Given the description of an element on the screen output the (x, y) to click on. 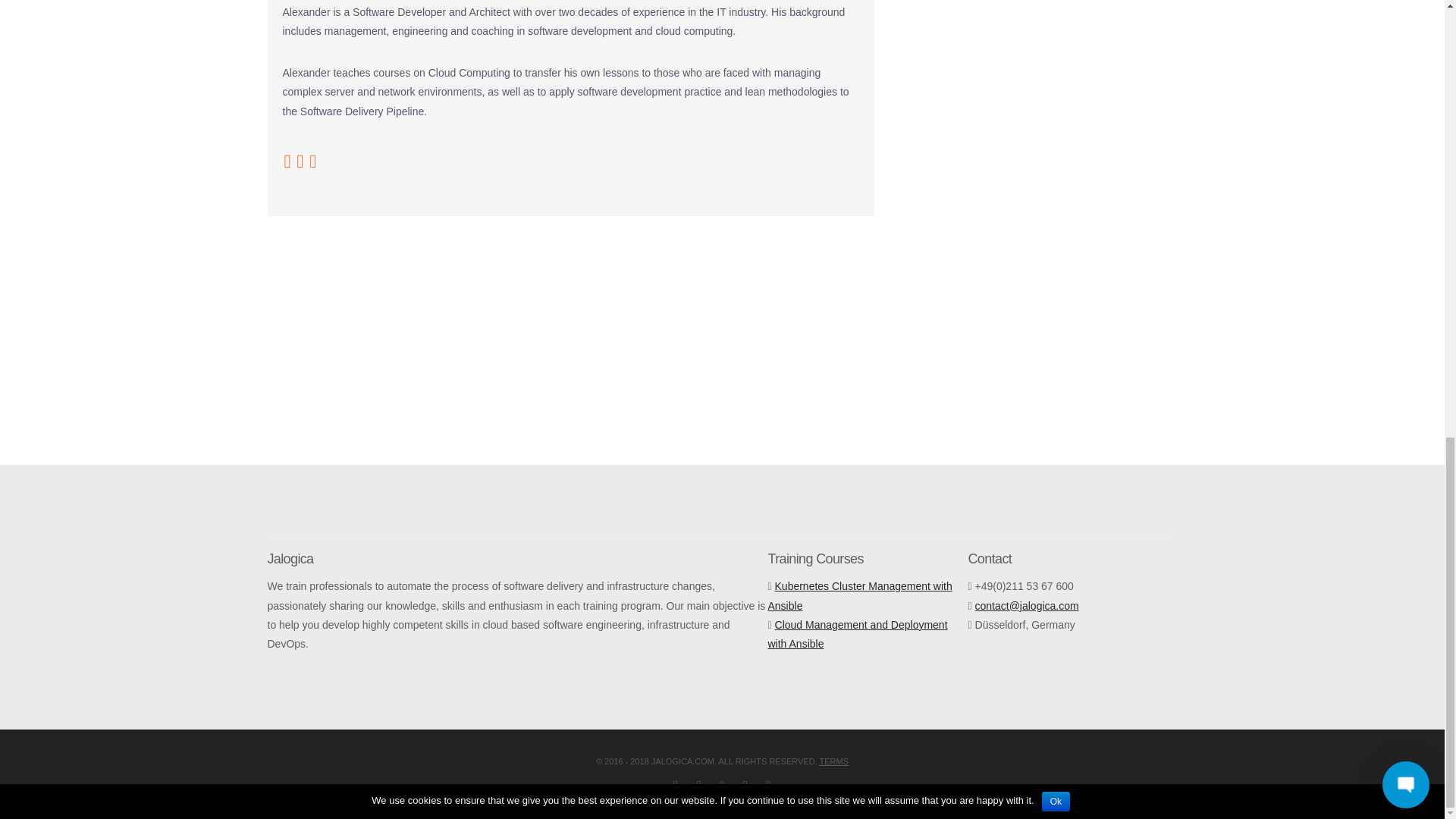
TERMS (833, 760)
Kubernetes Cluster Management with Ansible (859, 594)
Cloud Management and Deployment with Ansible (857, 634)
